Given the description of an element on the screen output the (x, y) to click on. 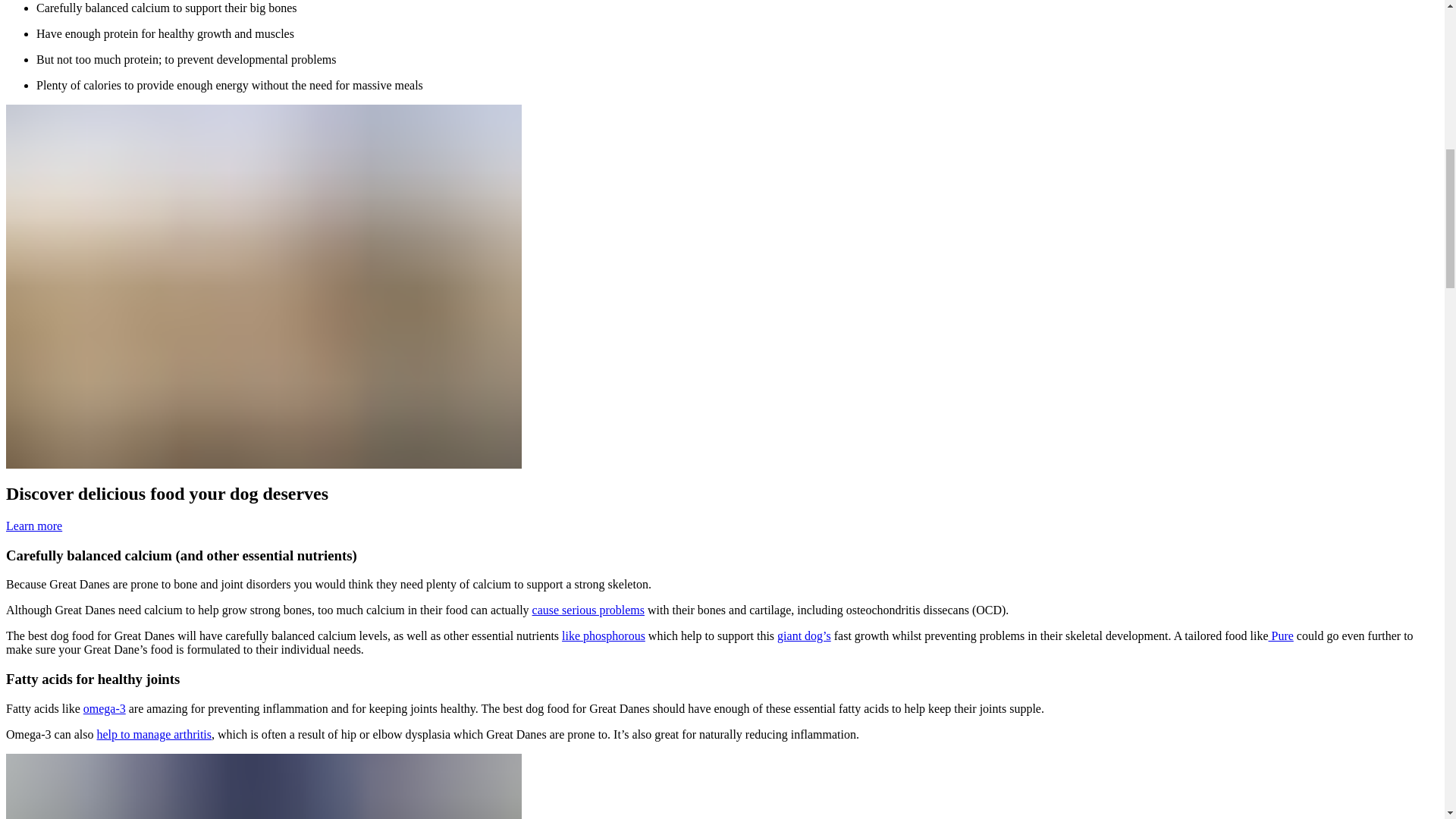
omega-3 (103, 707)
Pure (1281, 635)
cause serious problems (588, 609)
help to manage arthritis (154, 734)
like phosphorous (603, 635)
